Given the description of an element on the screen output the (x, y) to click on. 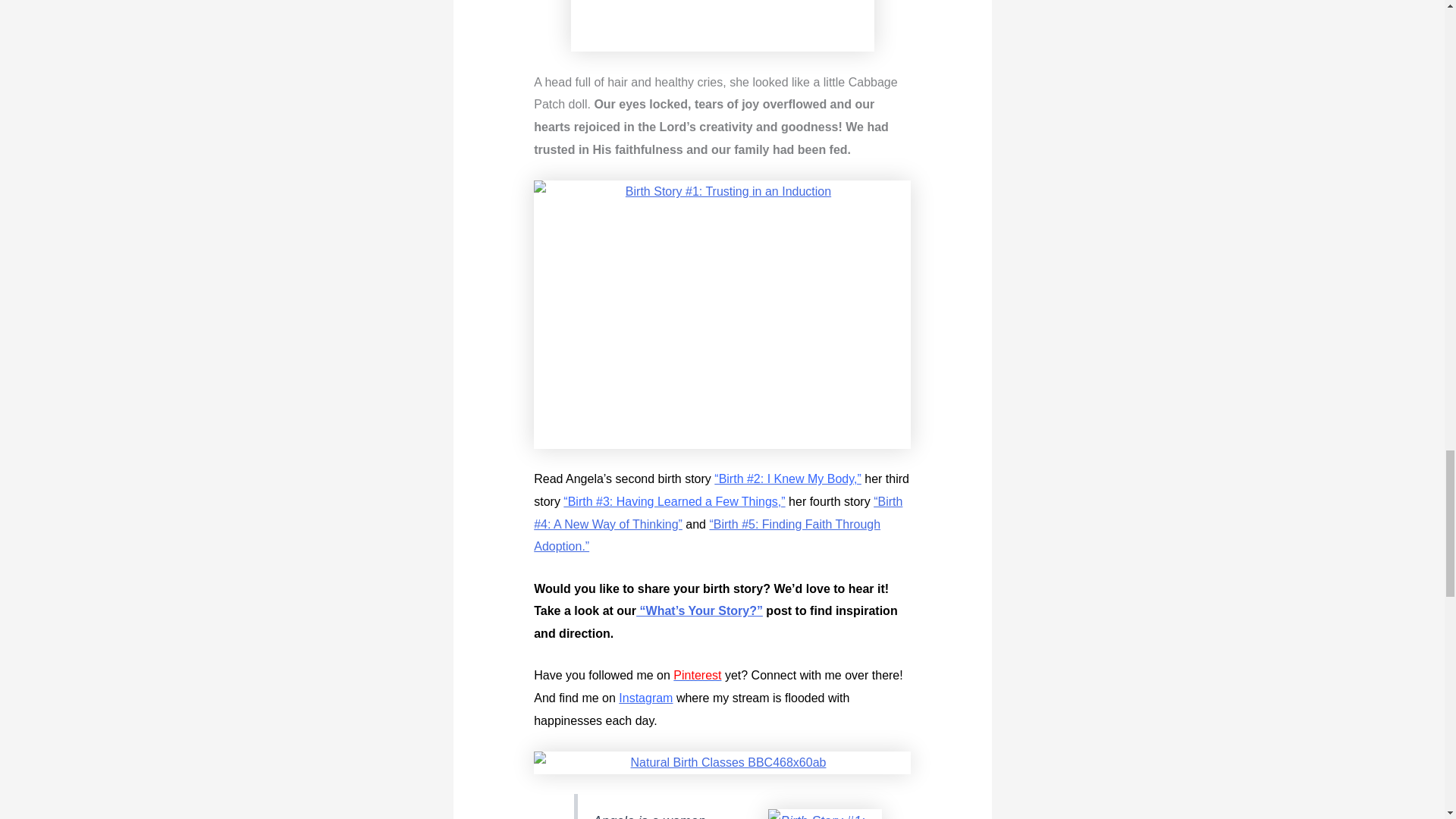
Instagram (645, 697)
Pinterest (696, 675)
